Given the description of an element on the screen output the (x, y) to click on. 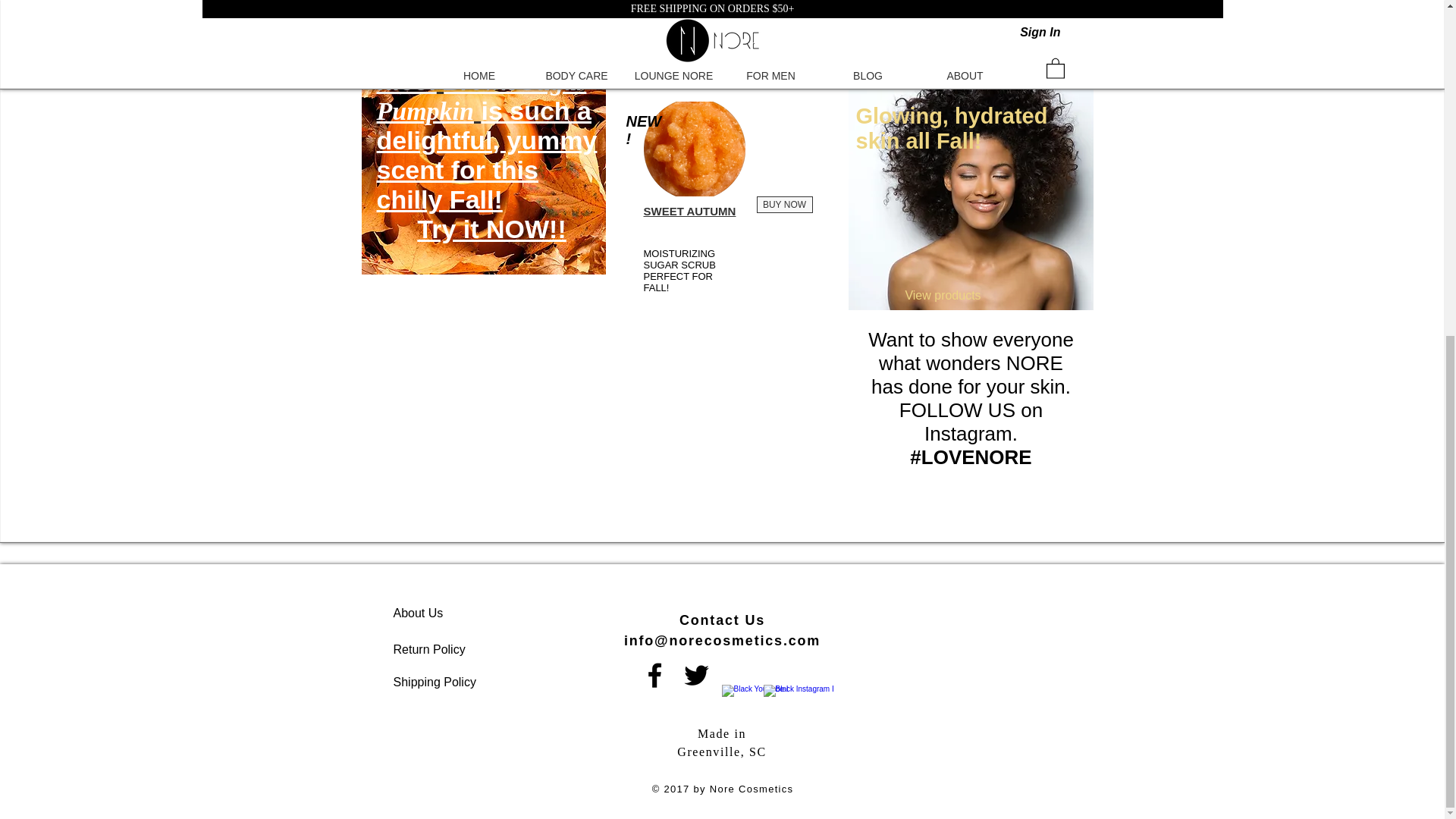
SWEET AUTUMN (689, 210)
Read more (483, 33)
BUY NOW (1064, 9)
Return Policy (428, 649)
BUY NOW (784, 204)
View products (943, 295)
Glowing, hydrated skin all Fall! (951, 128)
Try it NOW!! (491, 228)
delightful, yummy scent for this chilly Fall! (485, 169)
BUY NOW (840, 9)
About Us (417, 612)
Shipping Policy (434, 681)
